Given the description of an element on the screen output the (x, y) to click on. 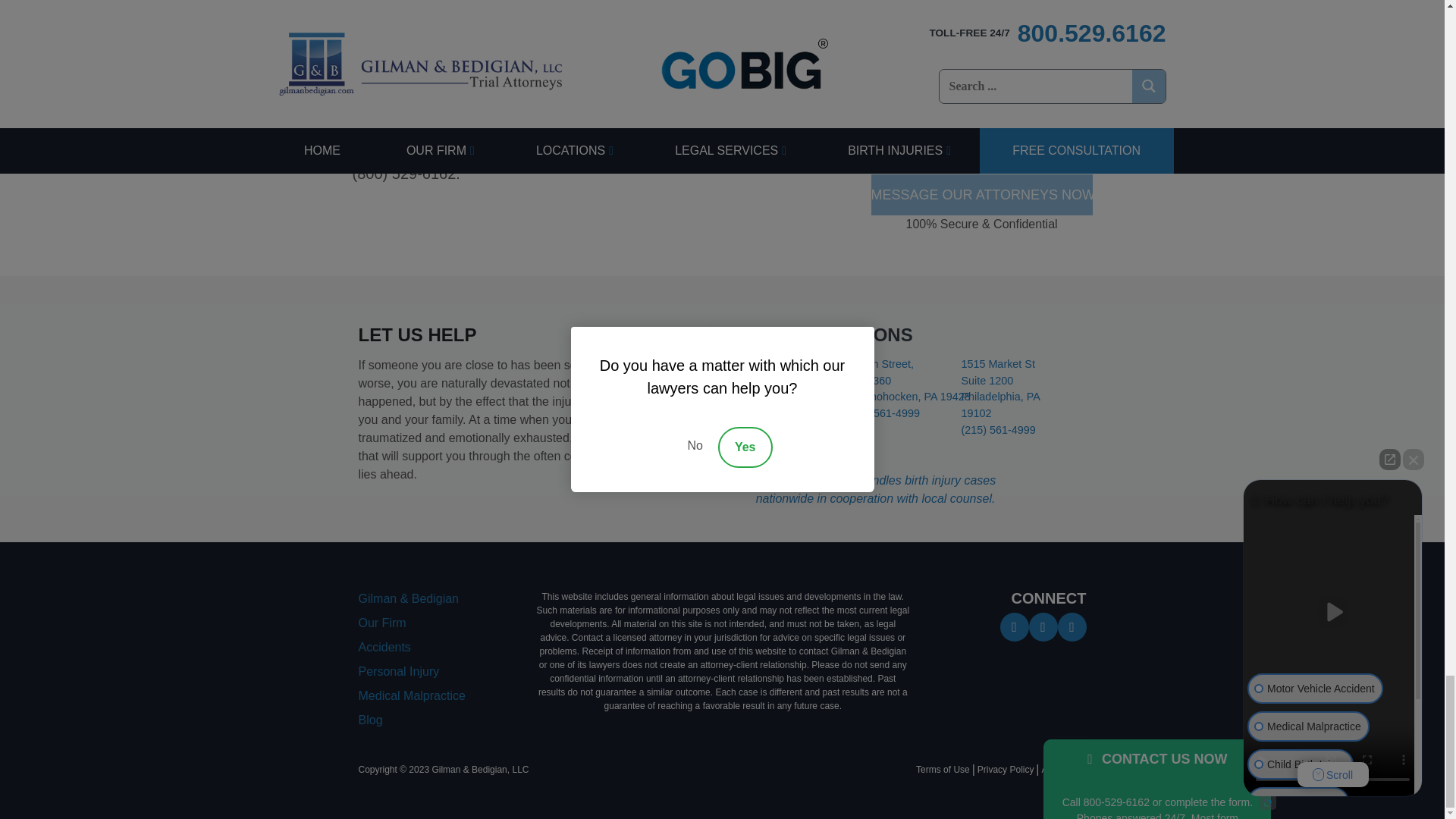
Facebook (1012, 625)
Twitter (1042, 625)
Default Label (1071, 625)
